Given the description of an element on the screen output the (x, y) to click on. 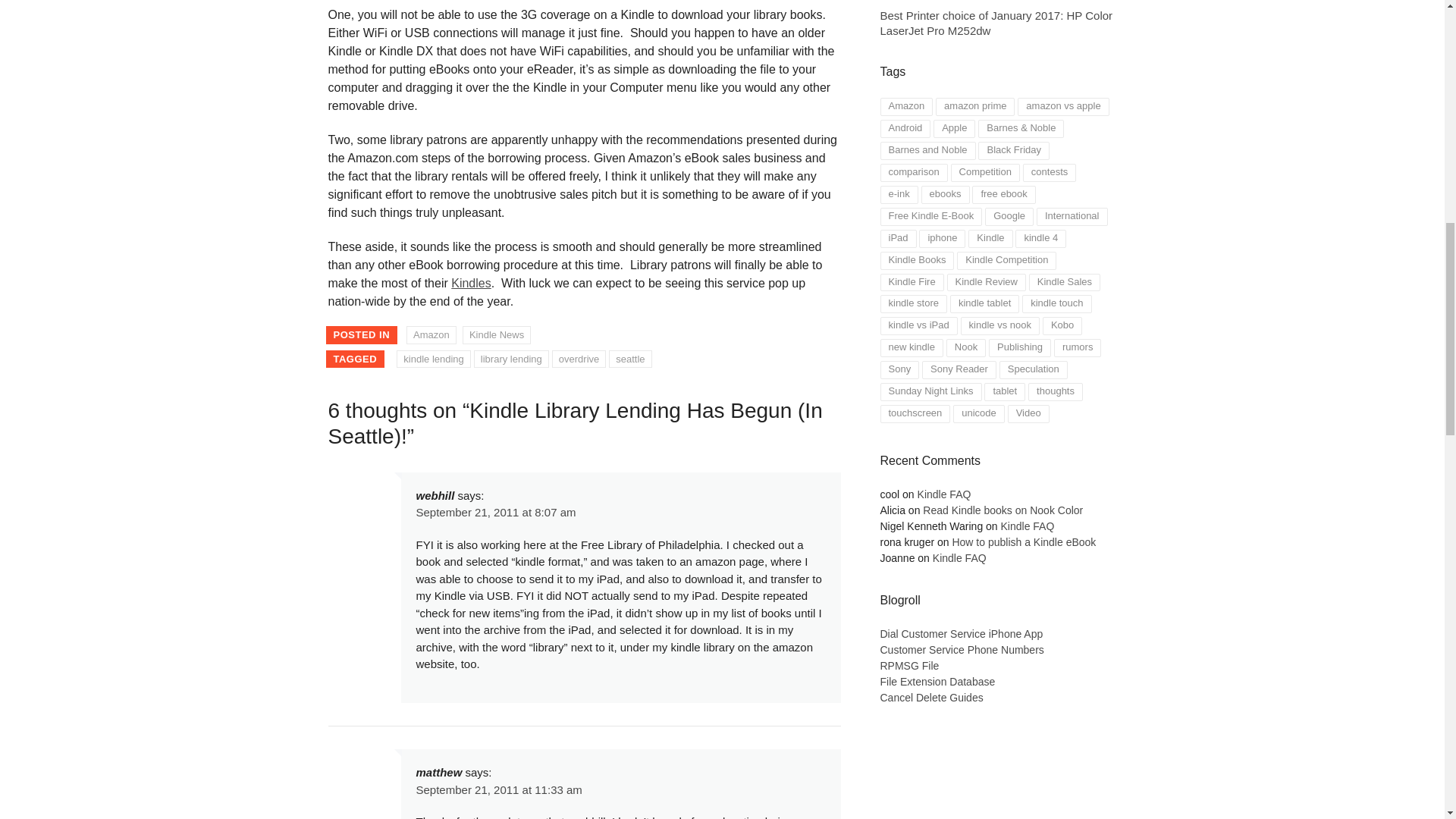
Website with guides on how to cancel and delete things (930, 697)
overdrive (578, 359)
September 21, 2011 at 8:07 am (494, 512)
File Extension Explorer (960, 633)
Amazon (431, 334)
seattle (629, 359)
File Extension Database (936, 681)
kindle lending (433, 359)
library lending (511, 359)
September 21, 2011 at 11:33 am (497, 789)
Kindle News (497, 334)
Kindles (470, 282)
